Given the description of an element on the screen output the (x, y) to click on. 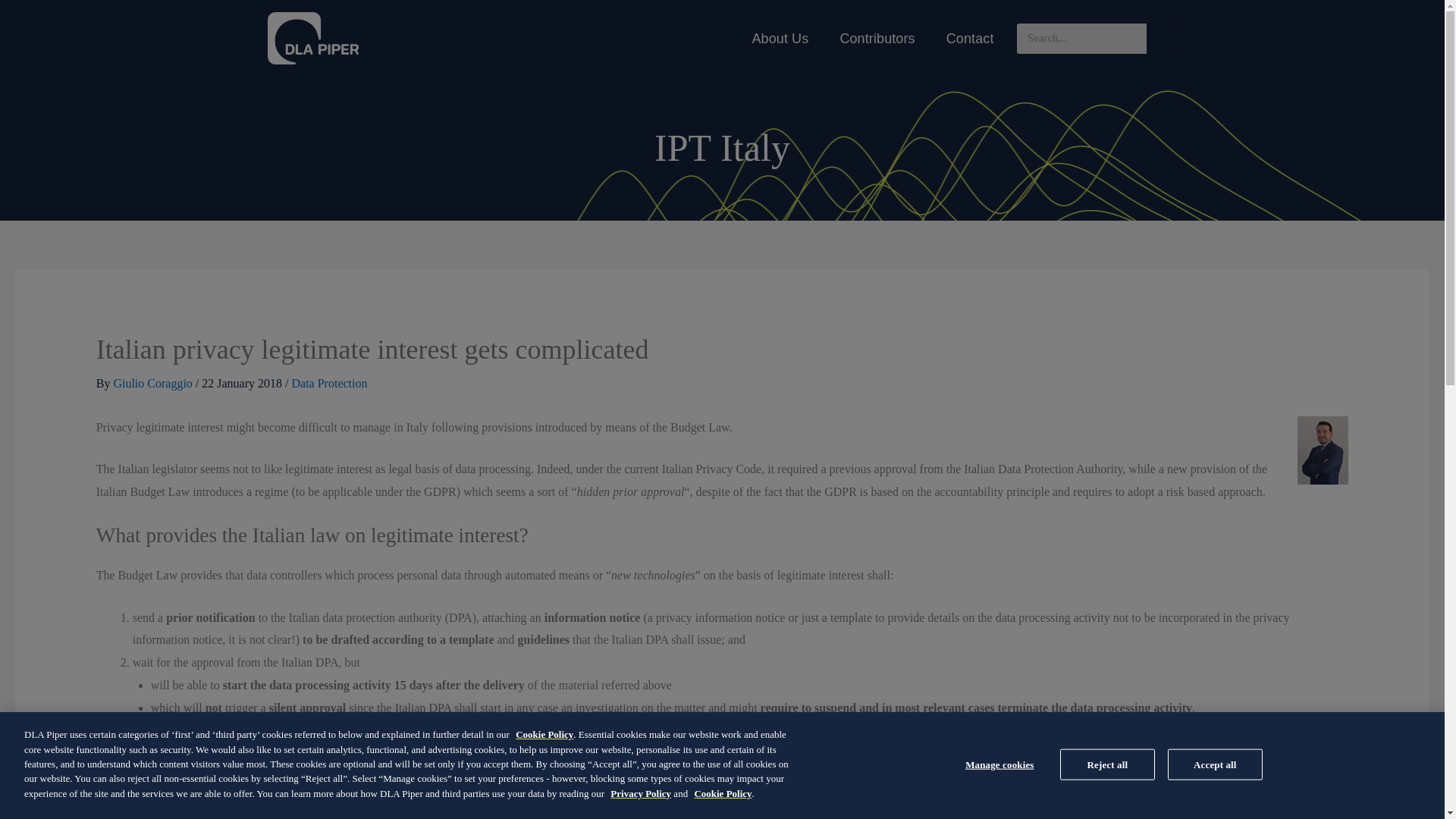
About Us (780, 38)
Data Protection (328, 382)
Cookie Policy (544, 734)
Privacy Policy (640, 793)
IPT Italy (721, 147)
Contributors (877, 38)
Contact (970, 38)
View all posts by Giulio Coraggio (154, 382)
Search (1161, 37)
Contributors (877, 38)
